Given the description of an element on the screen output the (x, y) to click on. 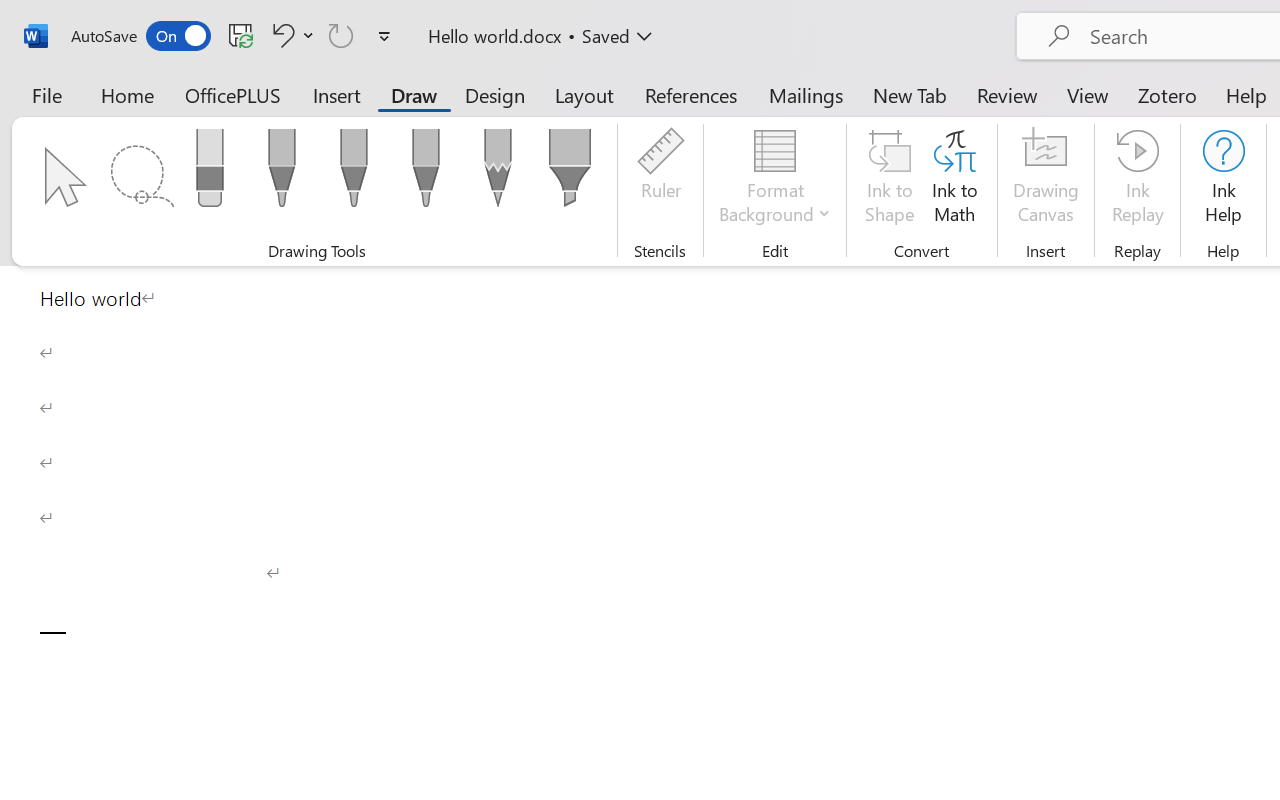
Review (1007, 94)
Insert (337, 94)
File Tab (46, 94)
Undo Paragraph Formatting (290, 35)
Layout (584, 94)
AutoSave (140, 35)
Drawing Canvas (1045, 179)
Ink to Math (954, 179)
